Given the description of an element on the screen output the (x, y) to click on. 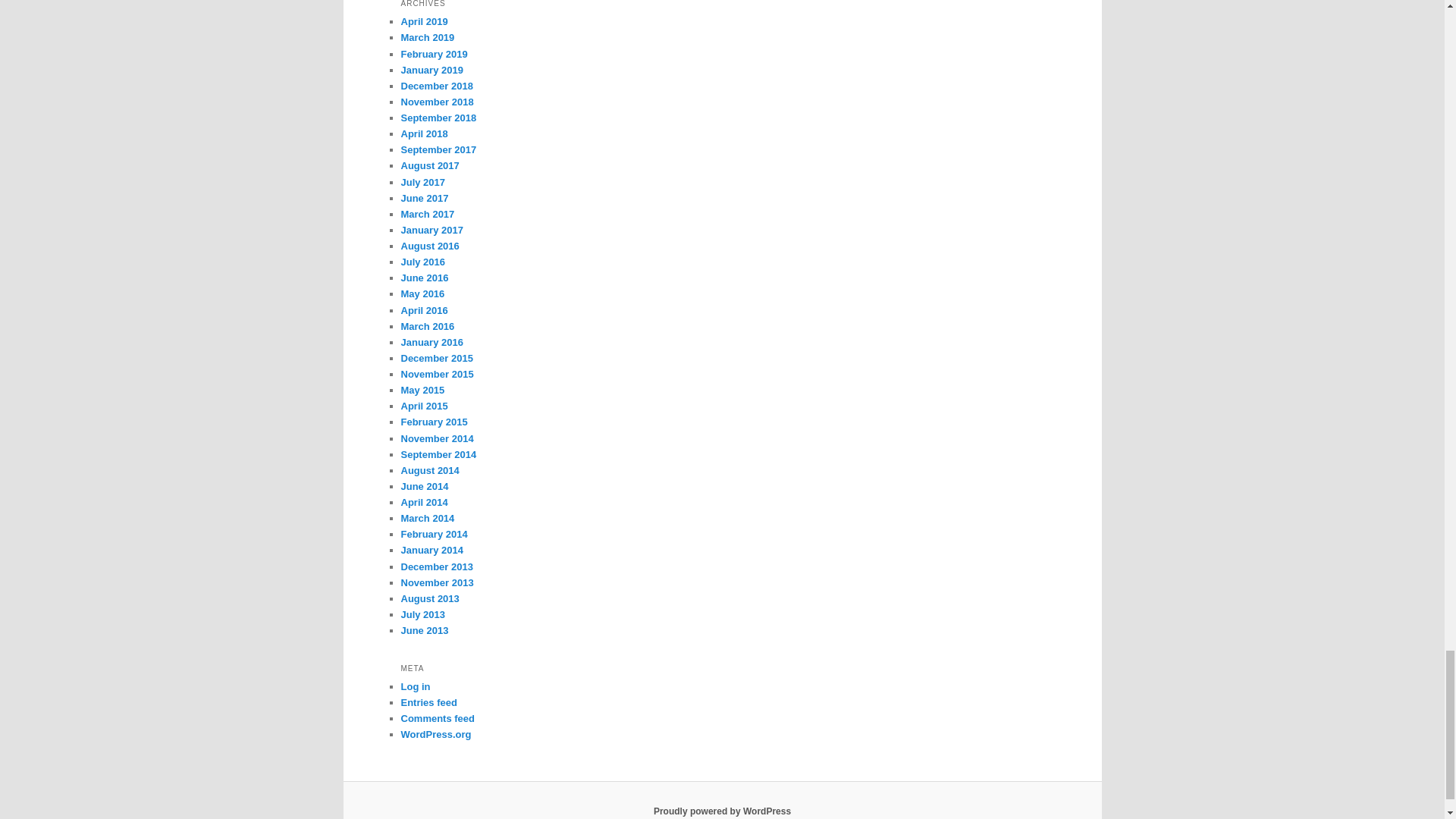
Semantic Personal Publishing Platform (721, 810)
